Given the description of an element on the screen output the (x, y) to click on. 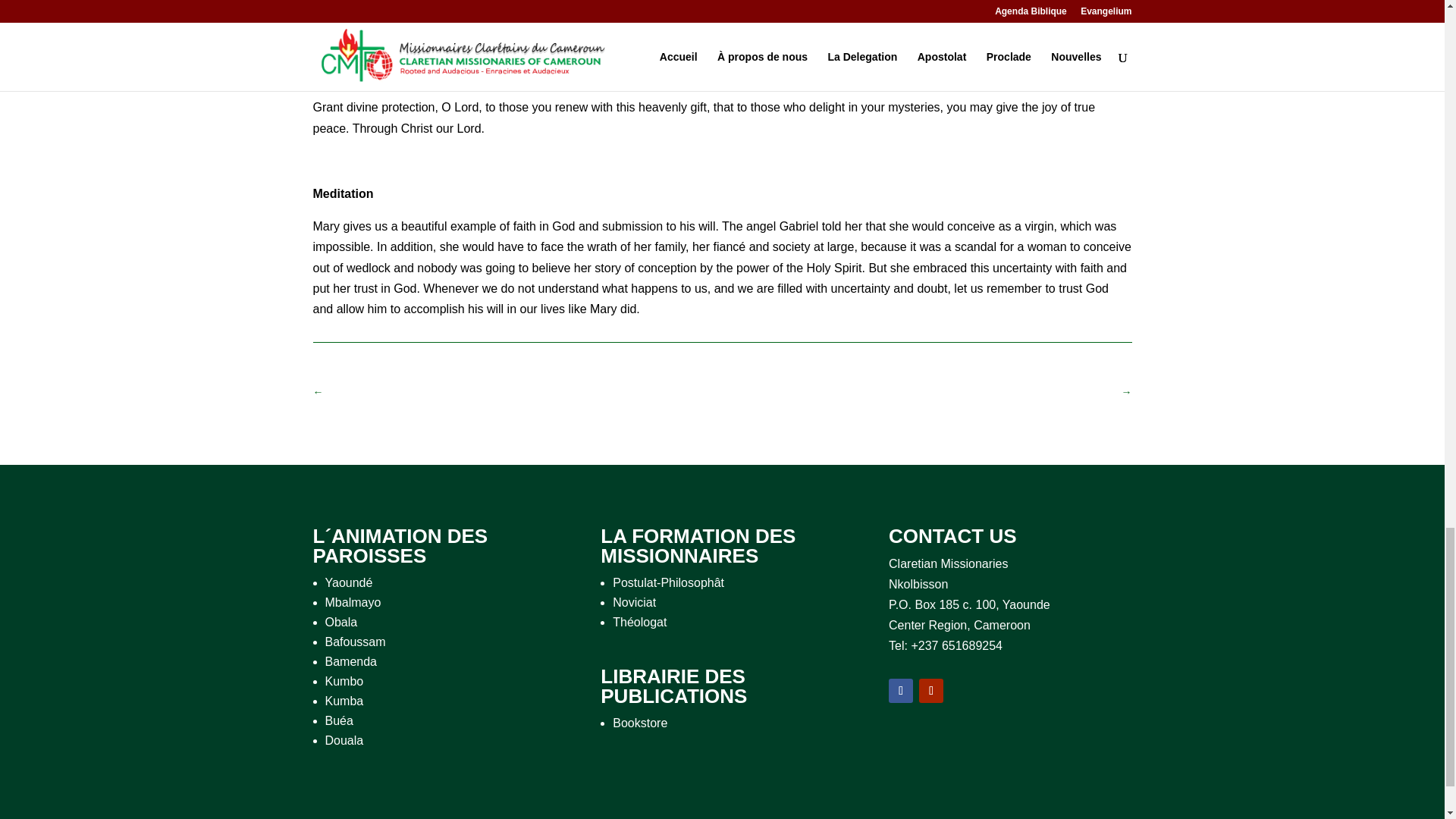
Follow on Youtube (930, 690)
Follow on Facebook (900, 690)
Bookstore (639, 722)
